Given the description of an element on the screen output the (x, y) to click on. 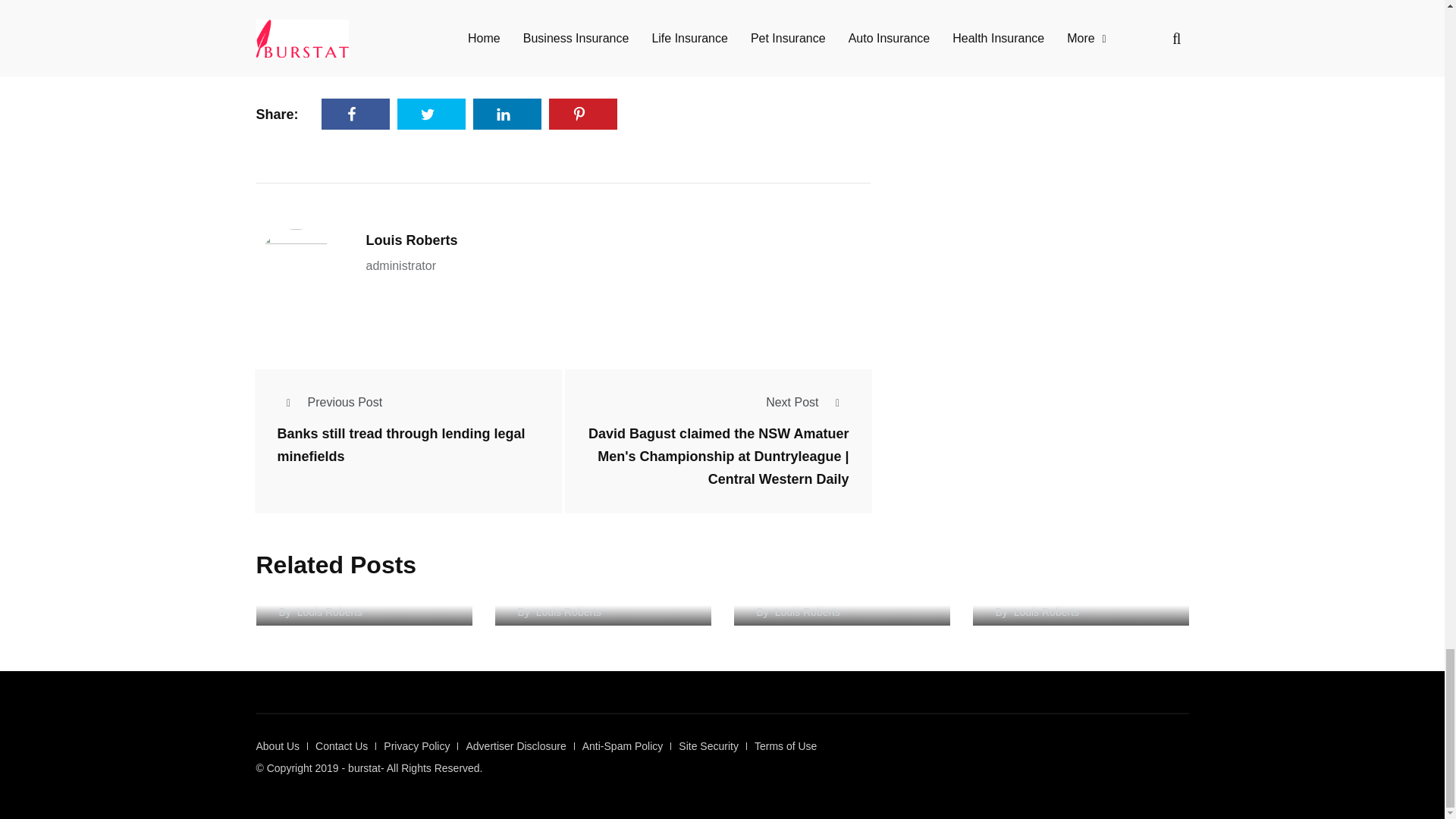
Share on Facebook (355, 113)
Posts by Louis Roberts (411, 240)
Share on Pinterest (582, 113)
Share on Twitter (431, 113)
Share on LinkedIn (507, 113)
